Given the description of an element on the screen output the (x, y) to click on. 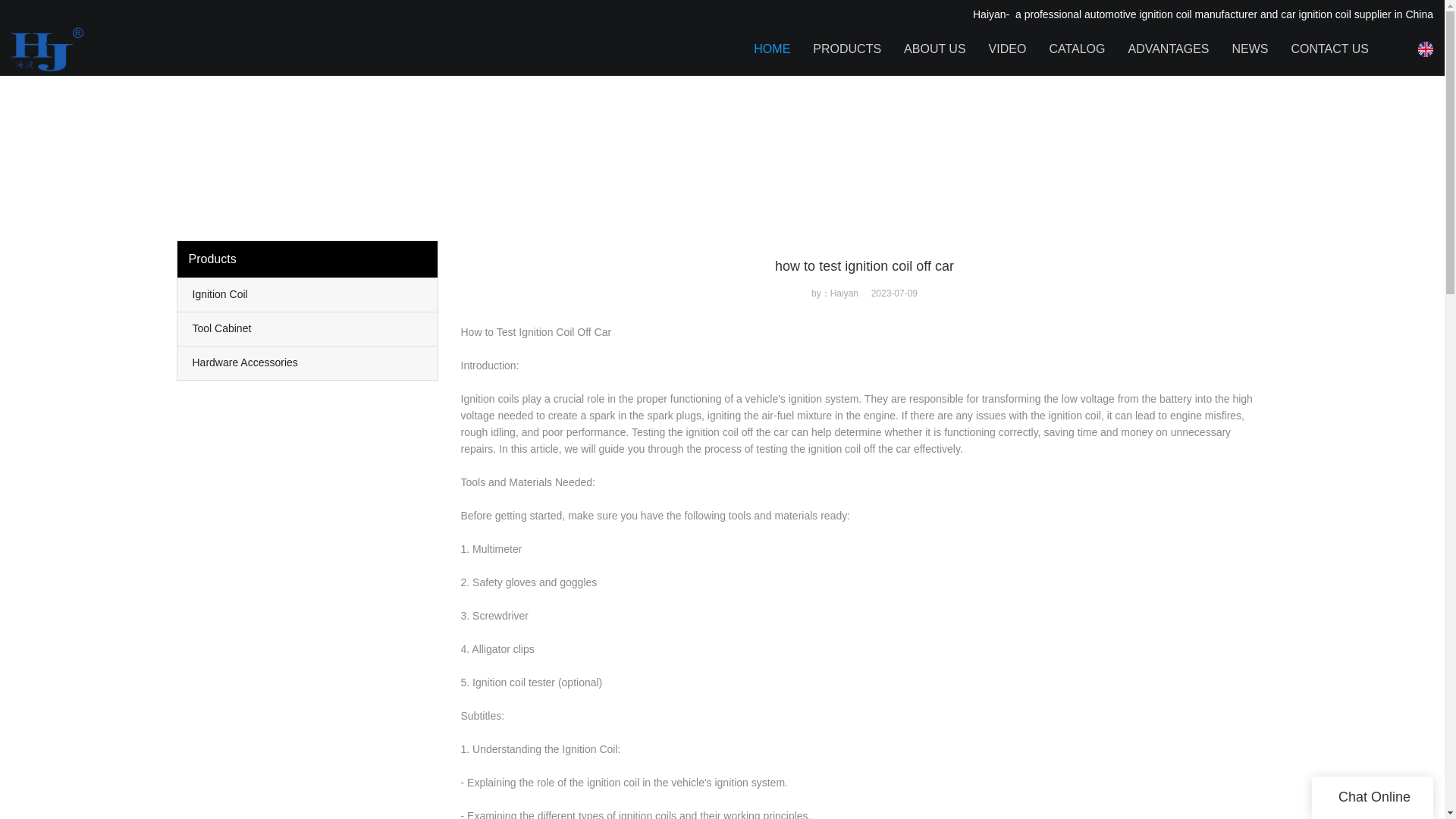
ADVANTAGES (1167, 49)
Tool Cabinet (307, 328)
PRODUCTS (846, 49)
CONTACT US (1329, 49)
CATALOG (1076, 49)
Hardware Accessories (307, 363)
Haiyan (189, 43)
ABOUT US (935, 49)
Ignition Coil (307, 295)
